Given the description of an element on the screen output the (x, y) to click on. 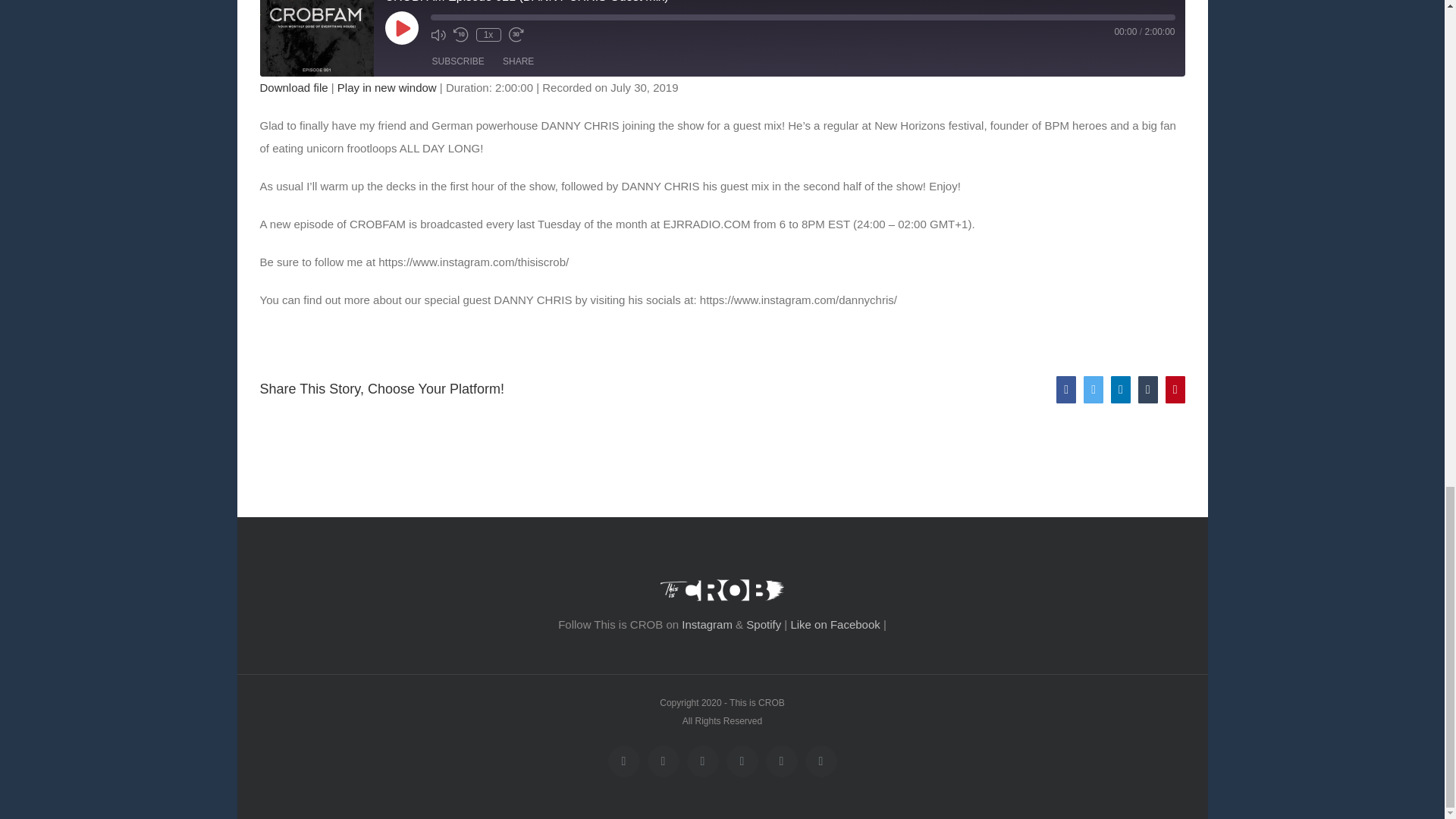
1x (488, 34)
Play (402, 28)
Rewind 10 seconds (460, 34)
Fast Forward 30 seconds (515, 34)
Playback Speed (488, 34)
SHARE (518, 61)
SUBSCRIBE (458, 61)
Subscribe (458, 61)
Rewind 10 Seconds (460, 34)
Download file (293, 87)
Share (518, 61)
CROBFAM (315, 38)
Play in new window (386, 87)
Play Episode (402, 28)
